Given the description of an element on the screen output the (x, y) to click on. 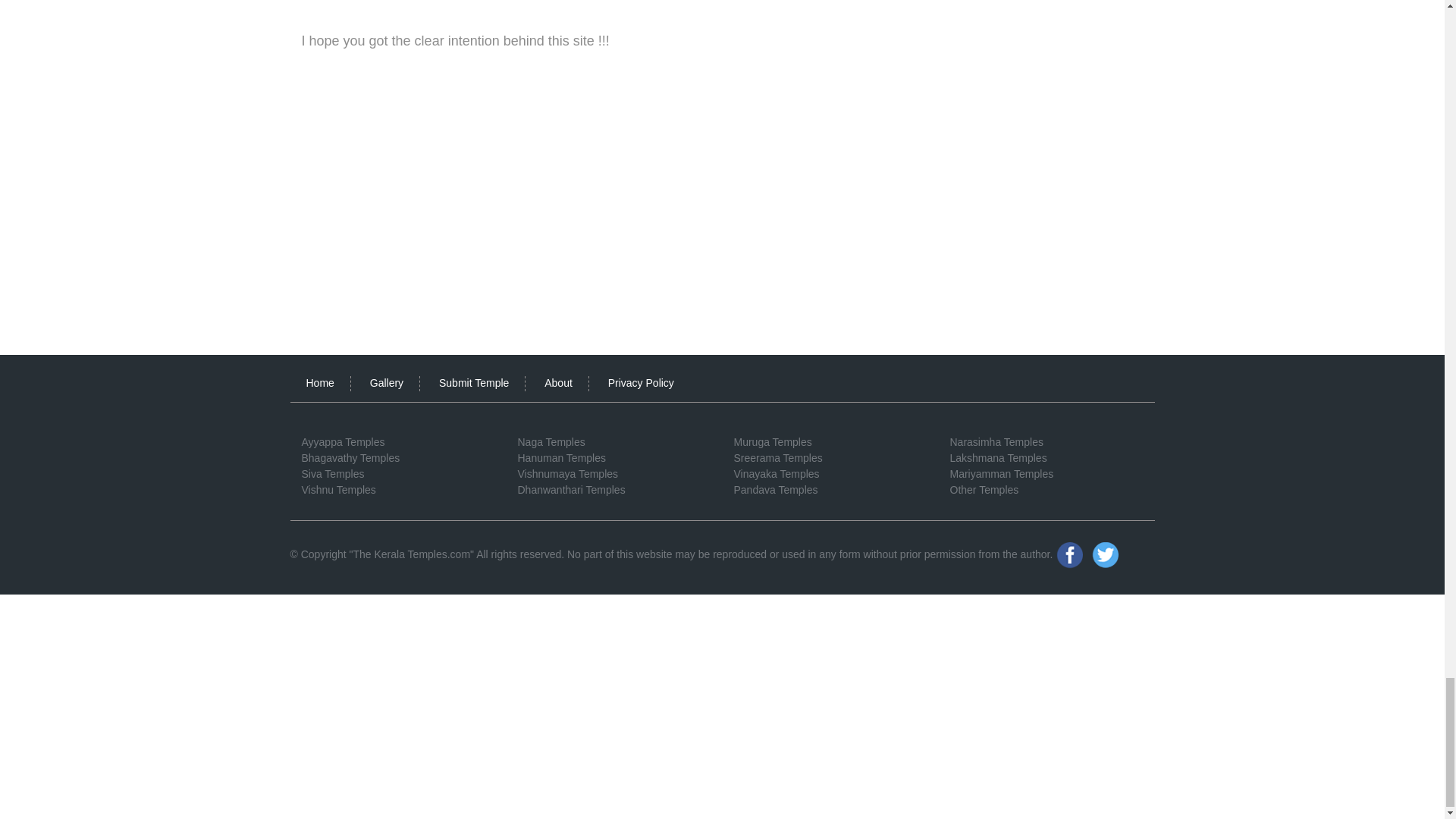
Home (319, 382)
Narasimha Temples (995, 441)
Sreerama Temples (777, 458)
Other Temples (983, 490)
Bhagavathy Temples (350, 458)
Vinayaka Temples (776, 473)
Lakshmana Temples (997, 458)
Muruga Temples (772, 441)
Vishnumaya Temples (566, 473)
Submit Temple (473, 382)
